Given the description of an element on the screen output the (x, y) to click on. 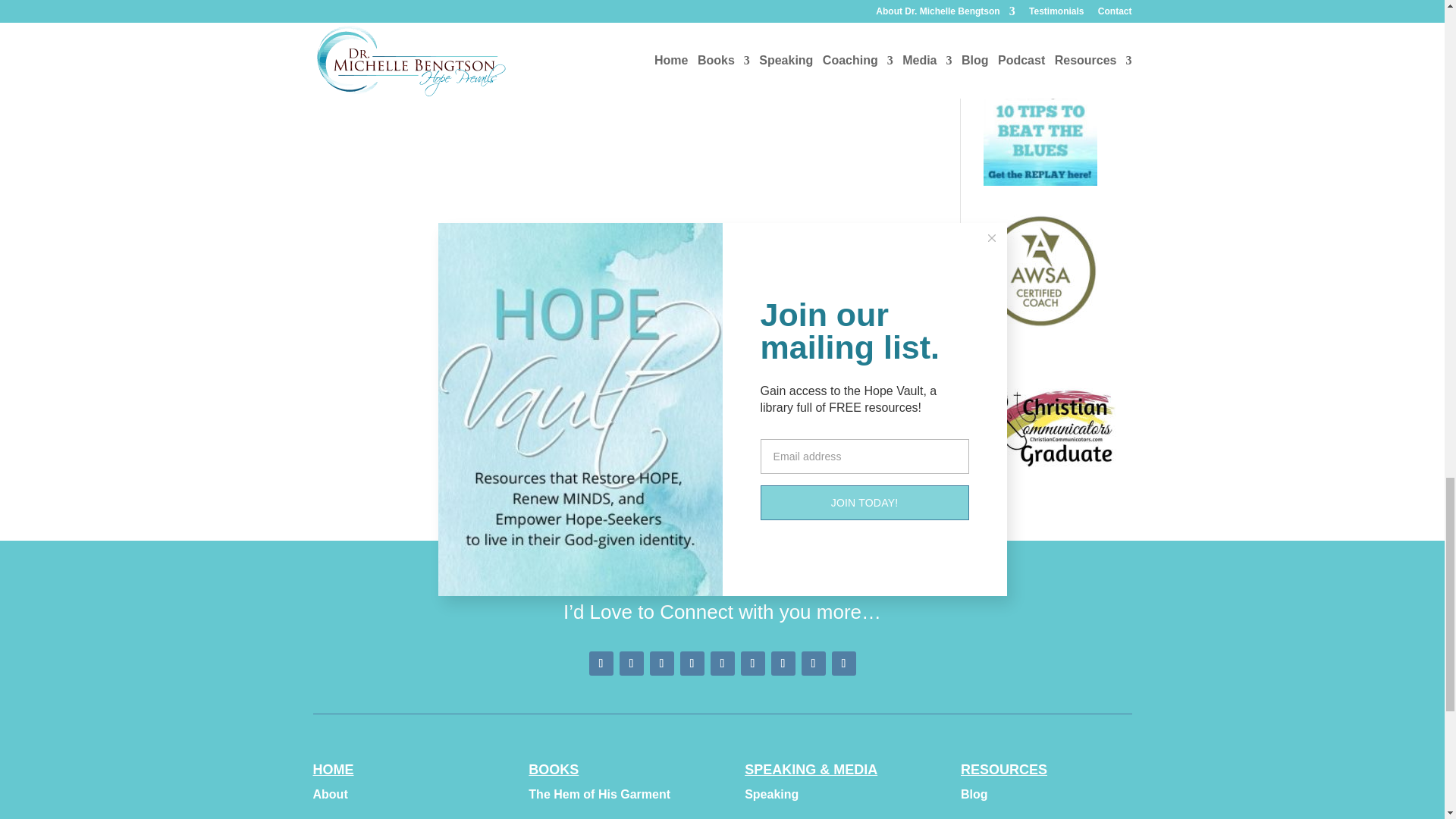
Follow on Instagram (660, 663)
Follow on Twitter (721, 663)
Follow on Youtube (691, 663)
Follow on LinkedIn (751, 663)
Follow on Facebook (600, 663)
Follow on Podcast (782, 663)
Follow on Amazon (812, 663)
Follow on BookBub (843, 663)
Follow on Pinterest (630, 663)
